Given the description of an element on the screen output the (x, y) to click on. 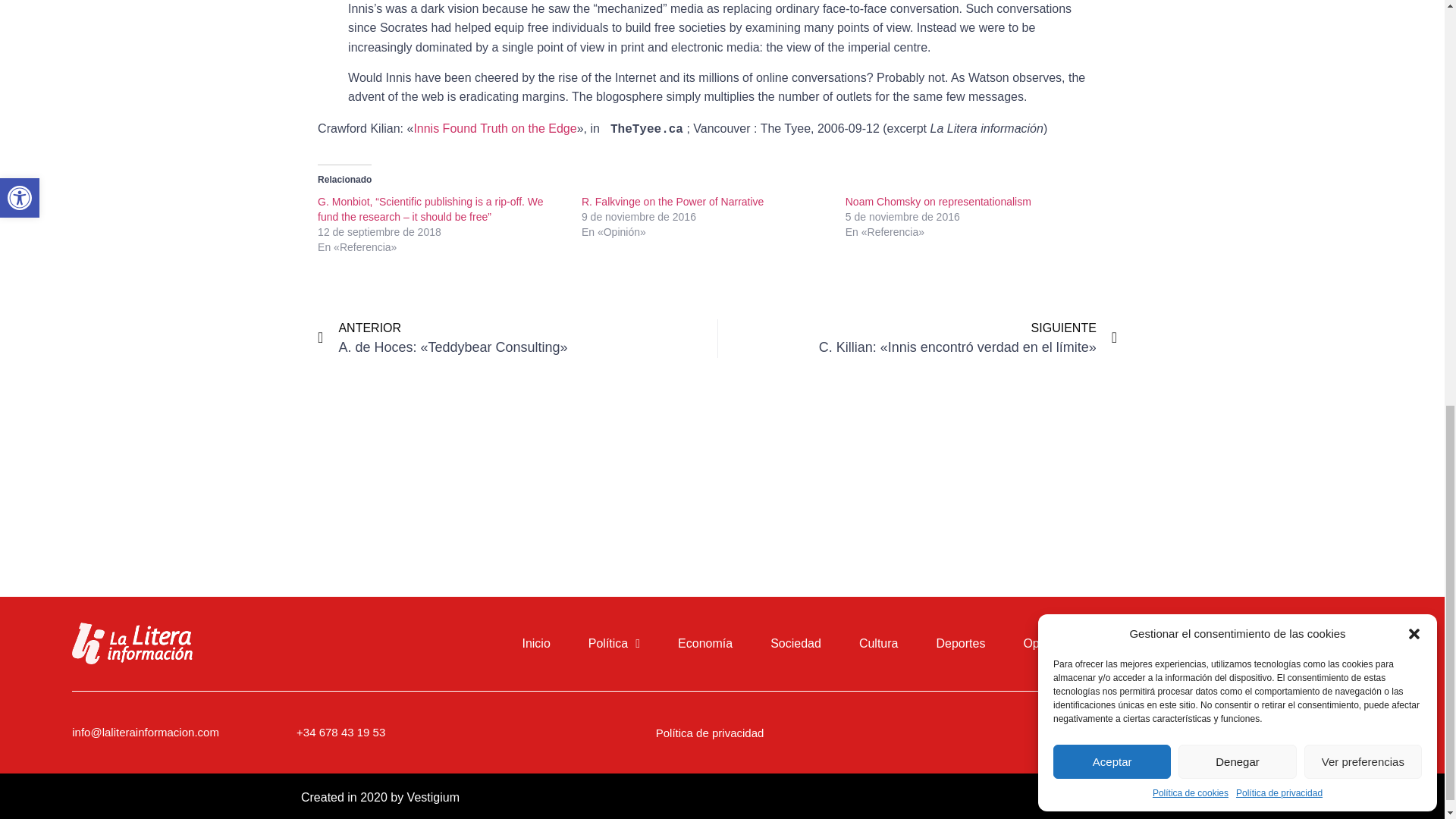
R. Falkvinge on the Power of Narrative (671, 201)
Noam Chomsky on representationalism (937, 201)
